Given the description of an element on the screen output the (x, y) to click on. 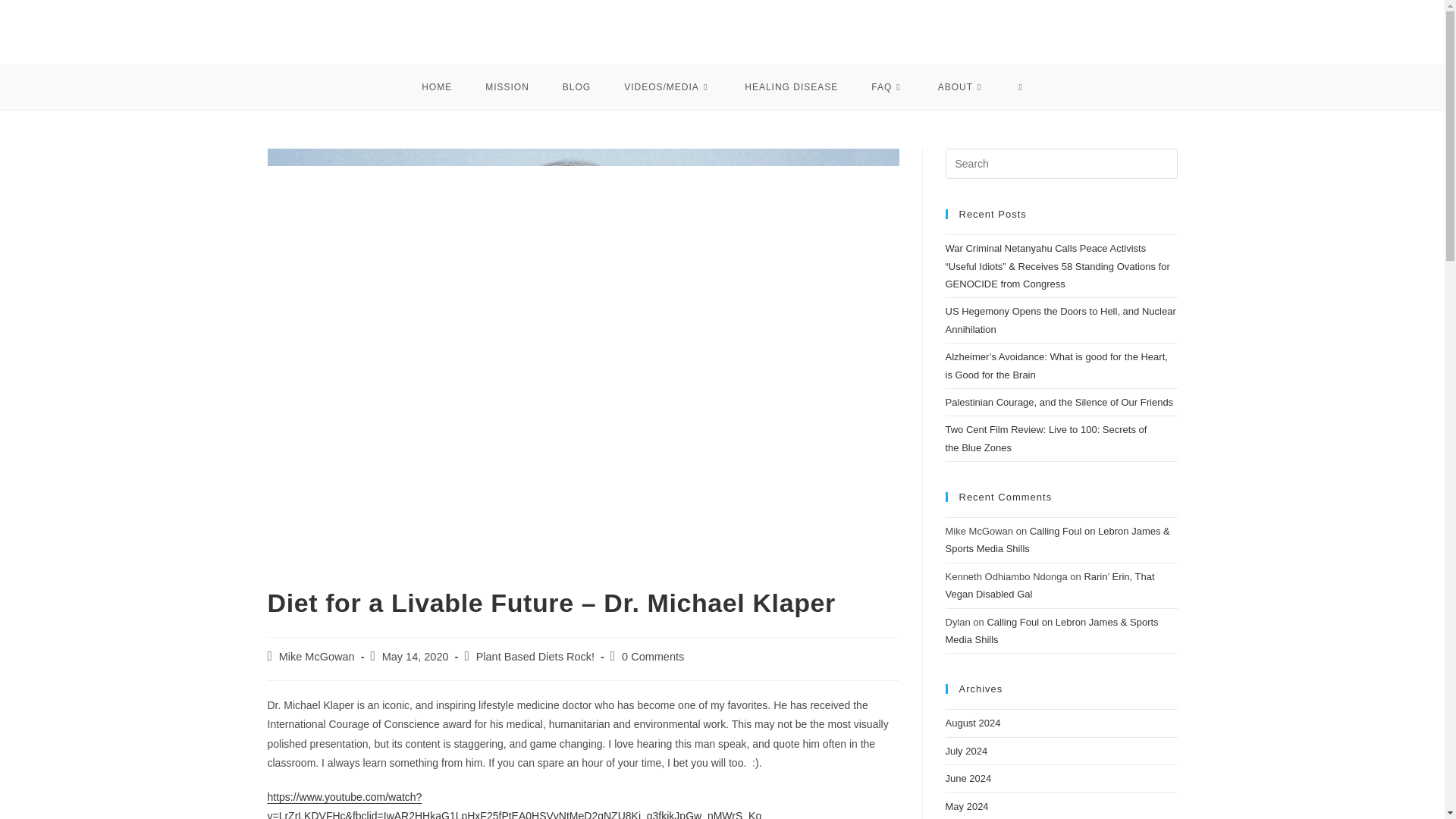
MISSION (507, 86)
0 Comments (652, 656)
FAQ (887, 86)
HEALING DISEASE (791, 86)
Plant Based Diets Rock! (535, 656)
HOME (436, 86)
ABOUT (962, 86)
Posts by Mike McGowan (317, 656)
Mike McGowan (317, 656)
BLOG (576, 86)
